Given the description of an element on the screen output the (x, y) to click on. 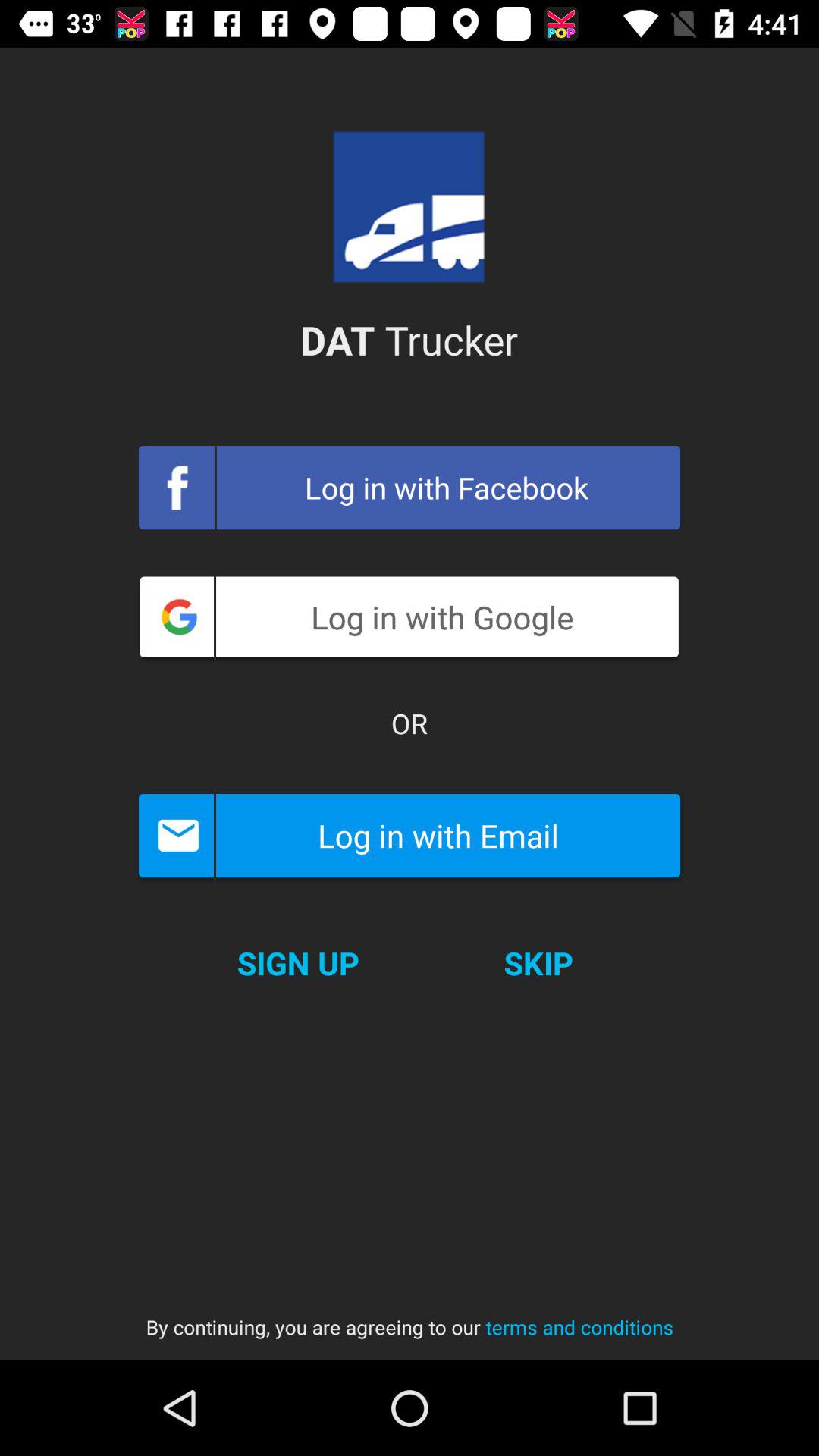
swipe until the skip (538, 962)
